Given the description of an element on the screen output the (x, y) to click on. 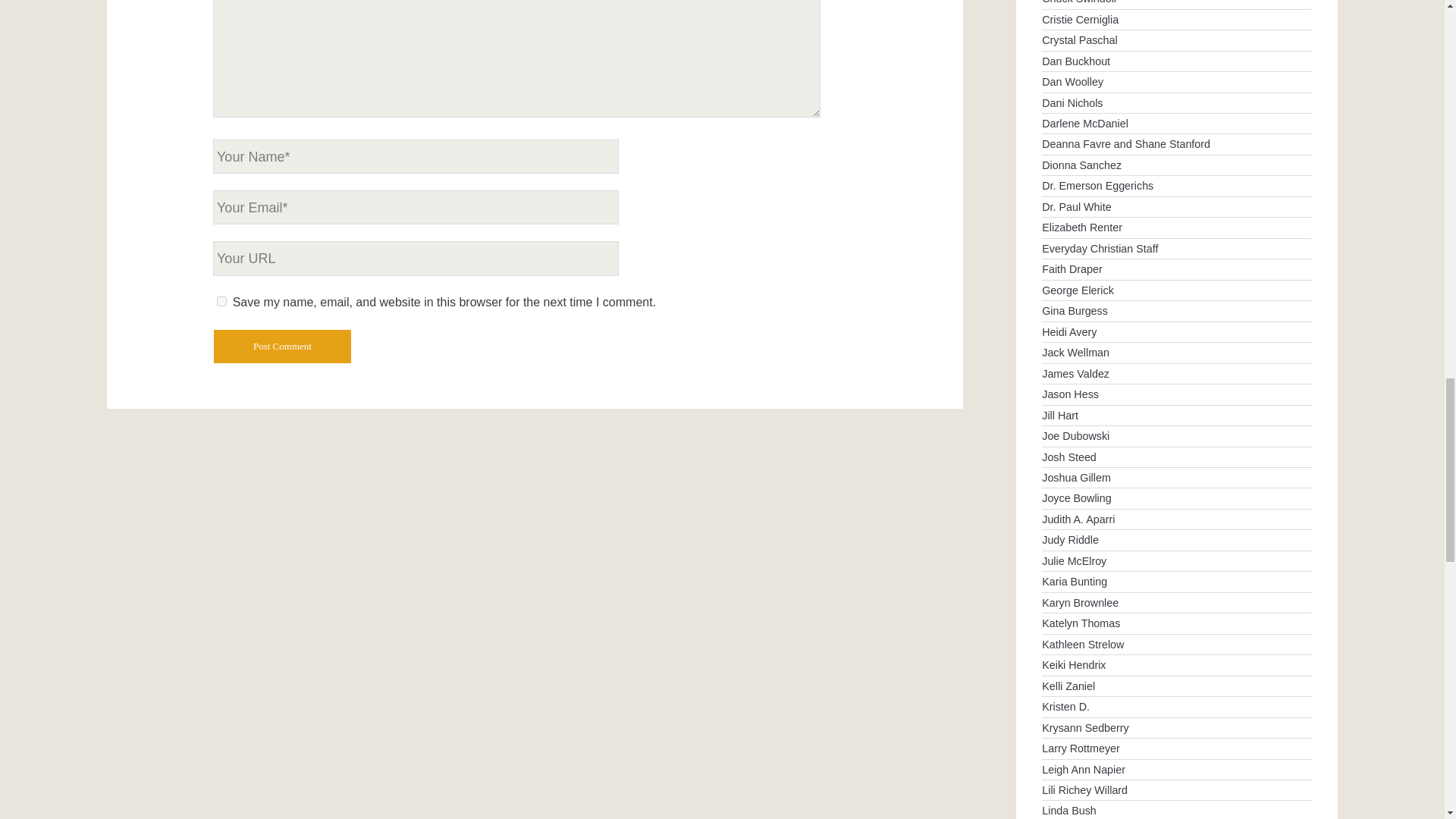
Post Comment (282, 346)
Post Comment (282, 346)
yes (221, 301)
